Given the description of an element on the screen output the (x, y) to click on. 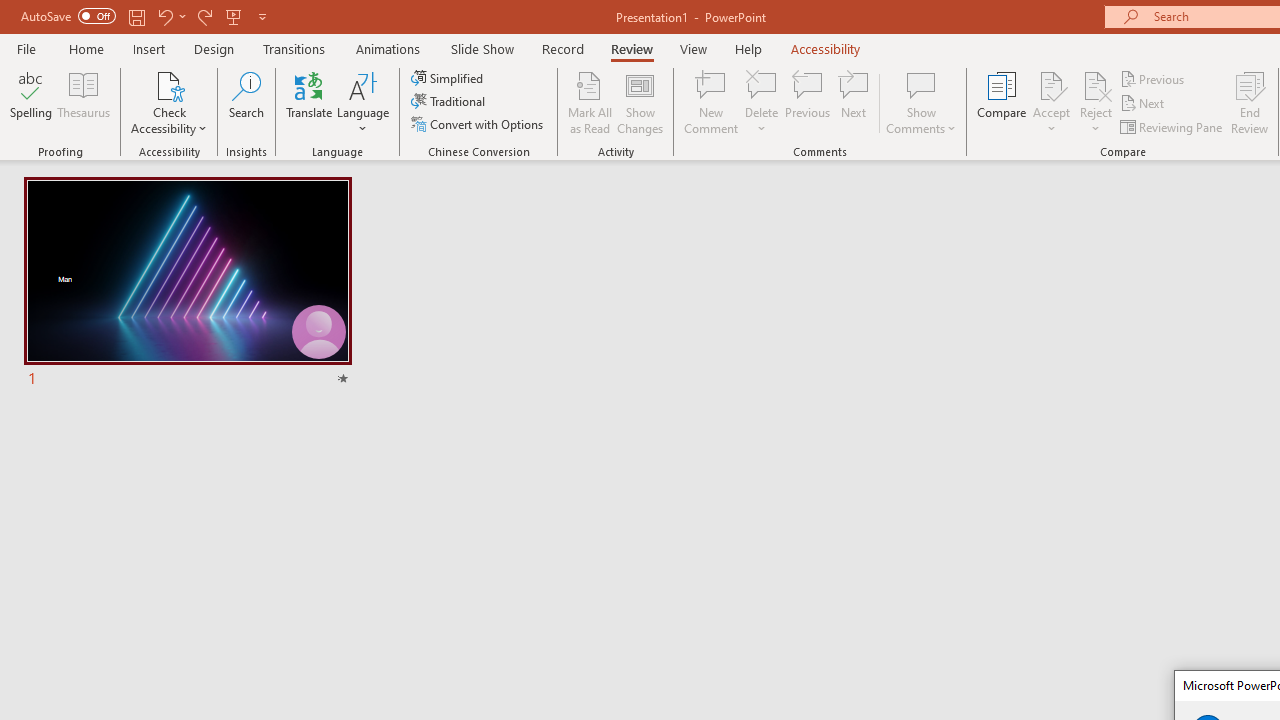
Compare (1002, 102)
Language (363, 102)
End Review (1249, 102)
Previous (1153, 78)
Accept (1051, 102)
